Given the description of an element on the screen output the (x, y) to click on. 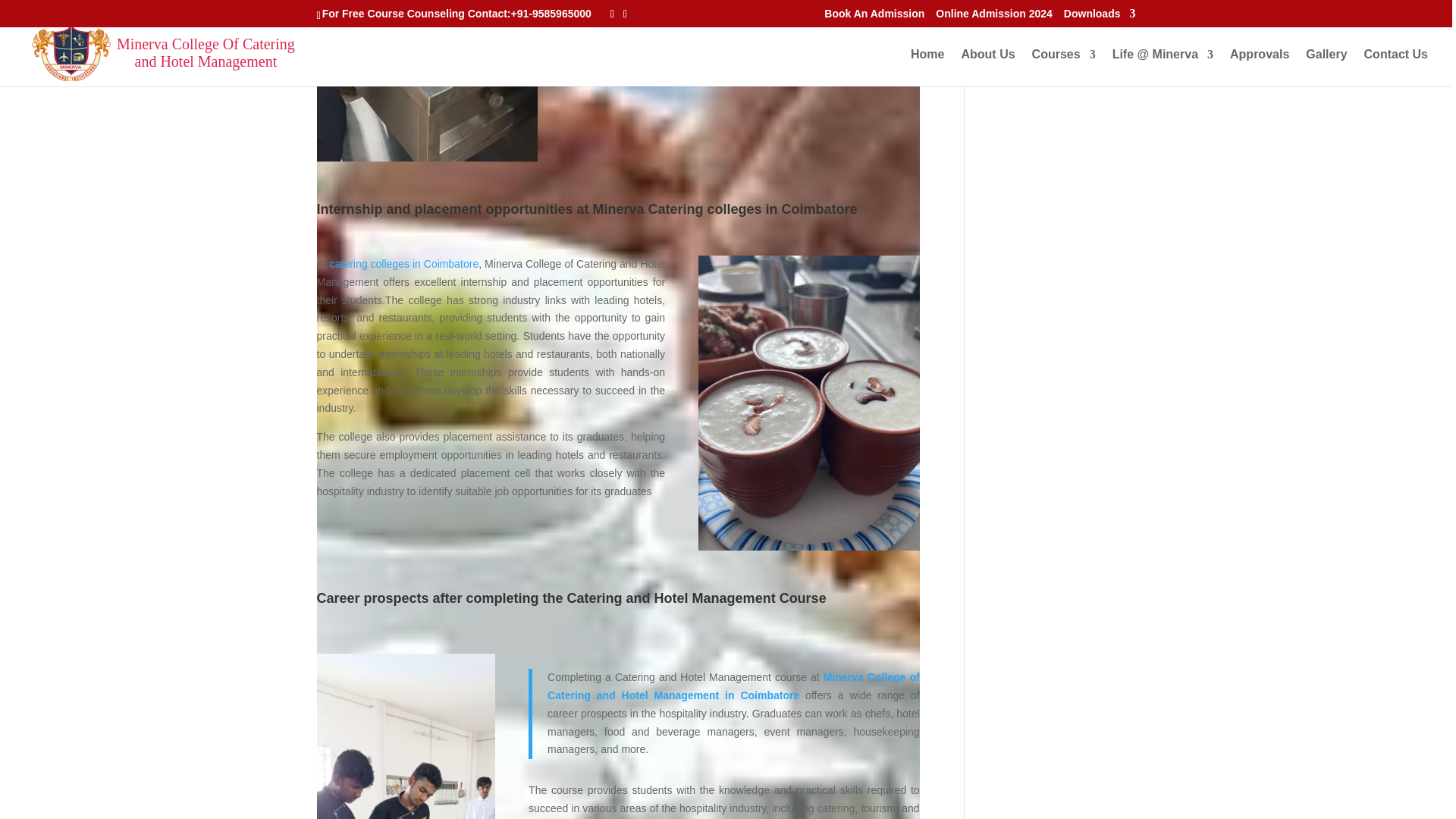
Catering colleges in Coimbatore (427, 80)
Catering colleges in Coimbatore (406, 736)
